Given the description of an element on the screen output the (x, y) to click on. 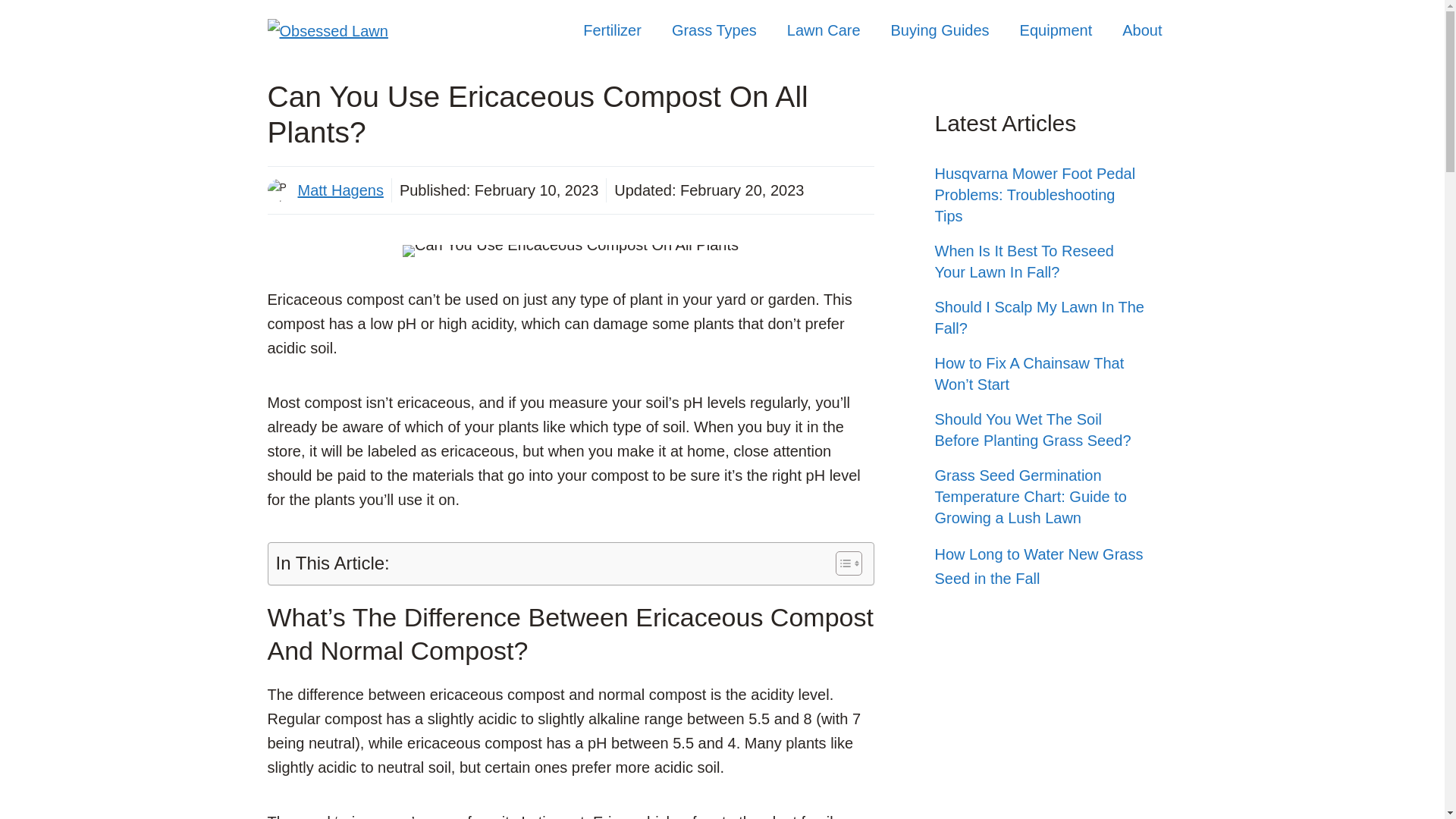
Buying Guides (940, 30)
How Long to Water New Grass Seed in the Fall (1038, 566)
Fertilizer (611, 30)
About (1141, 30)
Lawn Care (823, 30)
Matt Hagens (339, 190)
Should You Wet The Soil Before Planting Grass Seed? (1032, 429)
When Is It Best To Reseed Your Lawn In Fall? (1023, 261)
Husqvarna Mower Foot Pedal Problems: Troubleshooting Tips (1034, 194)
